Given the description of an element on the screen output the (x, y) to click on. 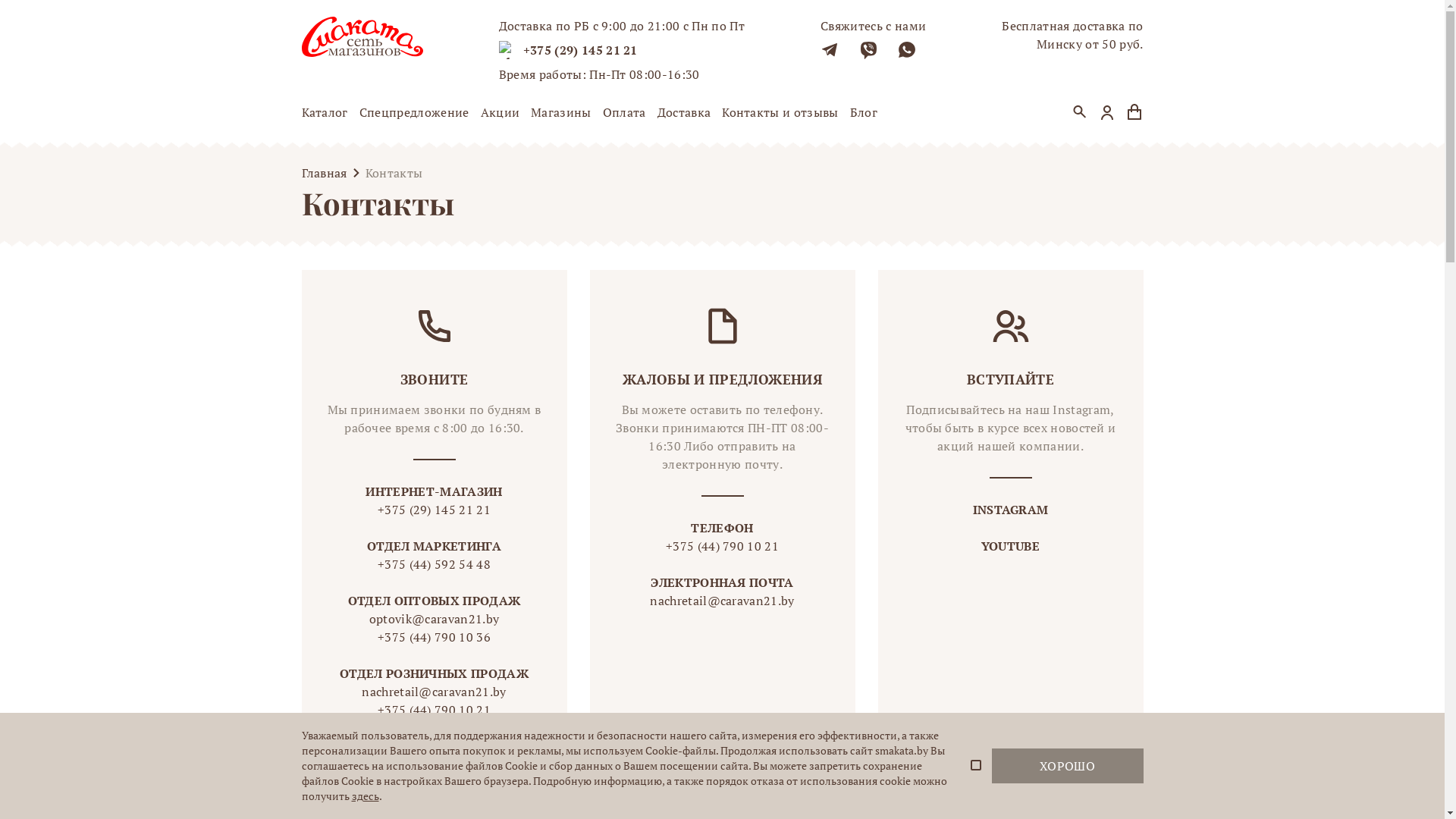
nachretail@caravan21.by Element type: text (721, 600)
+375 (44) 790 10 21 Element type: text (433, 709)
+375 (44) 790 10 36 Element type: text (433, 636)
+375 (44) 592 54 48 Element type: text (433, 564)
+375 (29) 145 21 21 Element type: text (433, 509)
optovik@caravan21.by Element type: text (433, 618)
+375 (29) 145 21 21 Element type: text (580, 49)
YOUTUBE Element type: text (1010, 545)
+375 (44) 790 10 21 Element type: text (721, 545)
INSTAGRAM Element type: text (1010, 509)
nachretail@caravan21.by Element type: text (433, 691)
+375 (29) 332 47 14 Element type: text (433, 727)
